Given the description of an element on the screen output the (x, y) to click on. 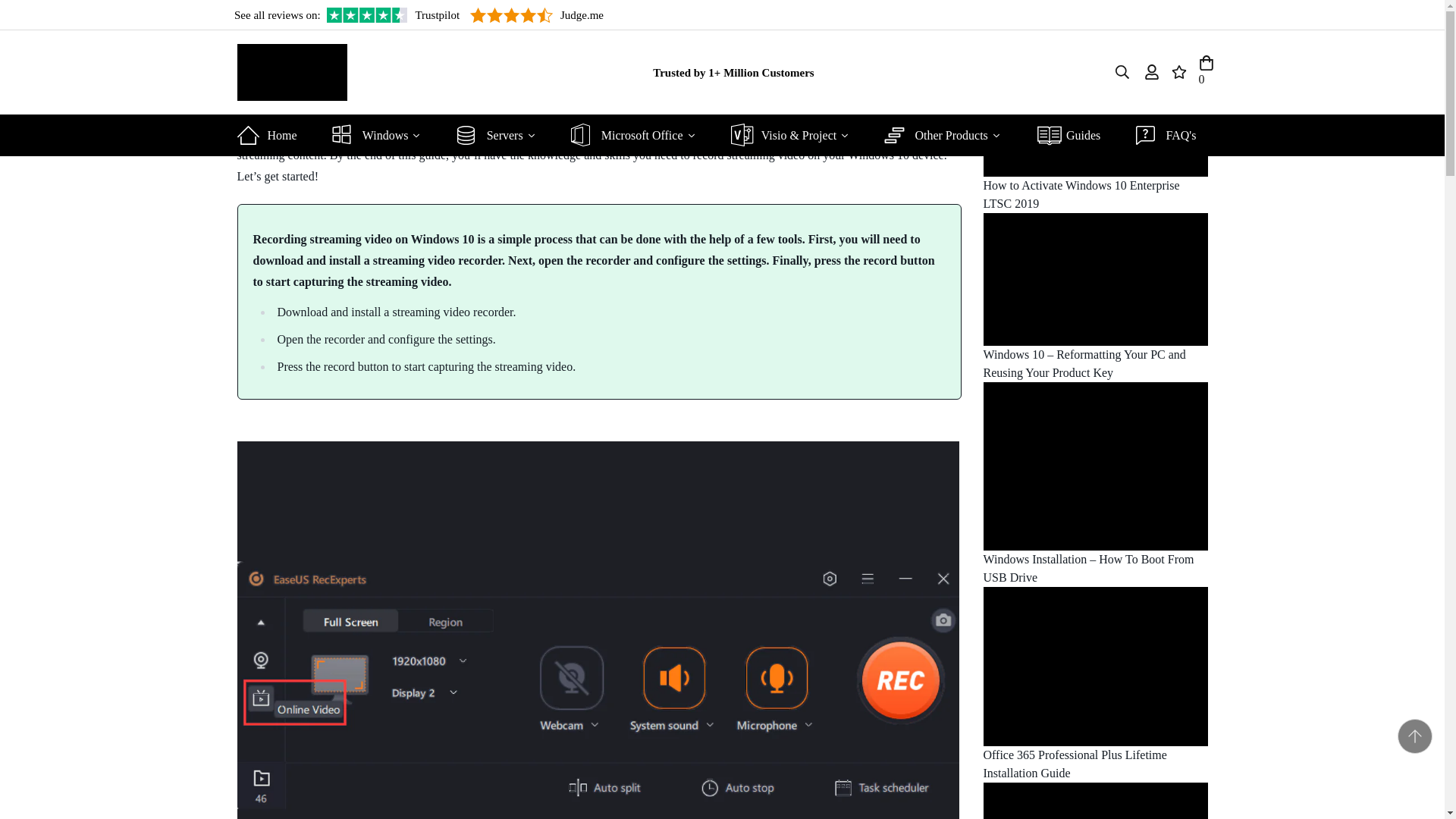
Productkeys-uk (290, 72)
Guides (1073, 135)
Microsoft Office (638, 135)
Other Products (947, 135)
FAQ's (1171, 135)
Home (271, 135)
Servers (502, 135)
FAQ's (1171, 135)
Servers (502, 135)
Guides (1073, 135)
Microsoft Office (638, 135)
Other Products (947, 135)
Judge.me (537, 14)
Home (271, 135)
Windows (381, 135)
